Given the description of an element on the screen output the (x, y) to click on. 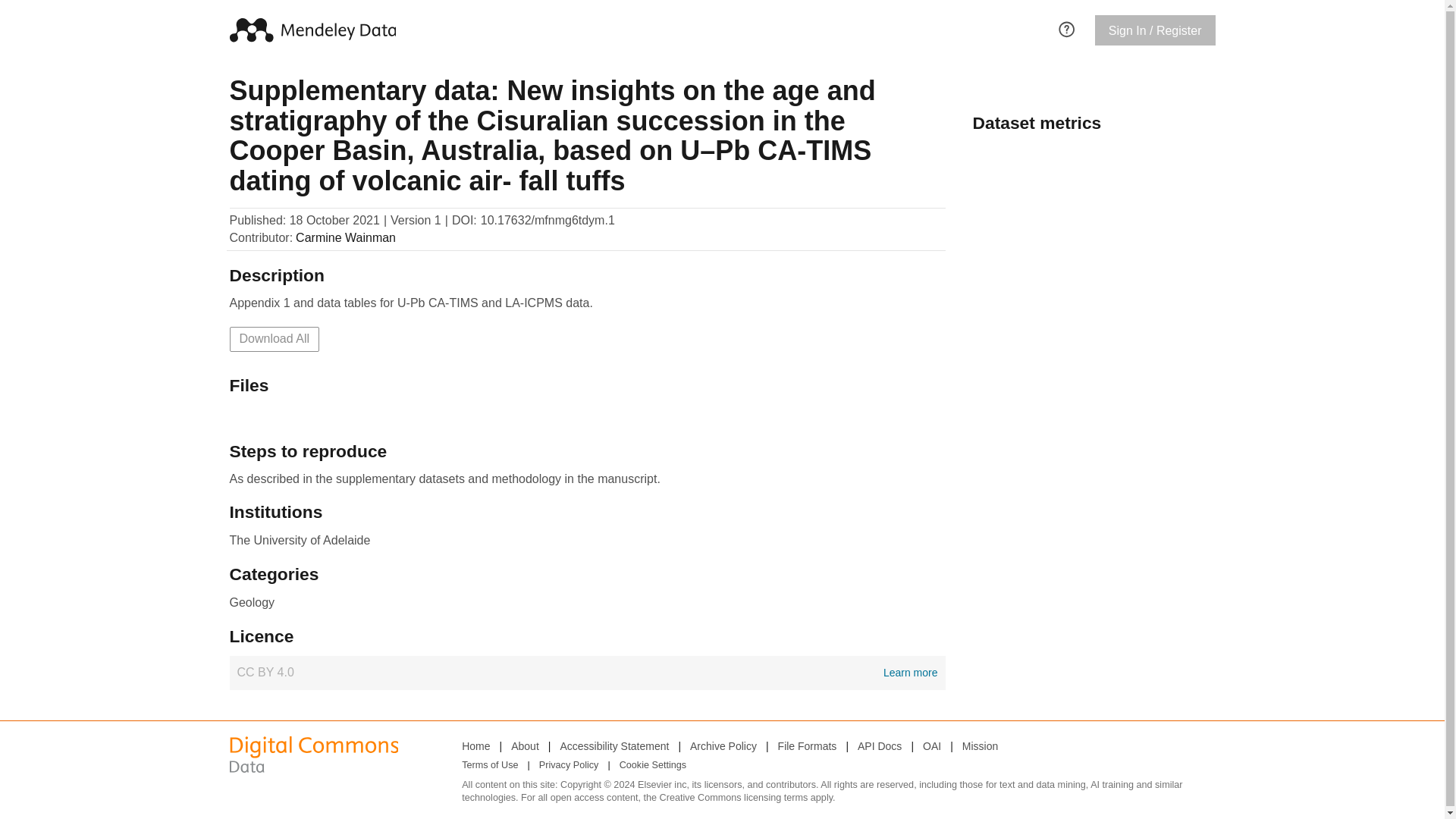
FAQ (1066, 27)
Terms of Use (489, 765)
Home (475, 745)
Cookie Settings (586, 672)
OAI (652, 765)
About (931, 745)
API Docs (524, 745)
Mission (879, 745)
File Formats (979, 745)
